Given the description of an element on the screen output the (x, y) to click on. 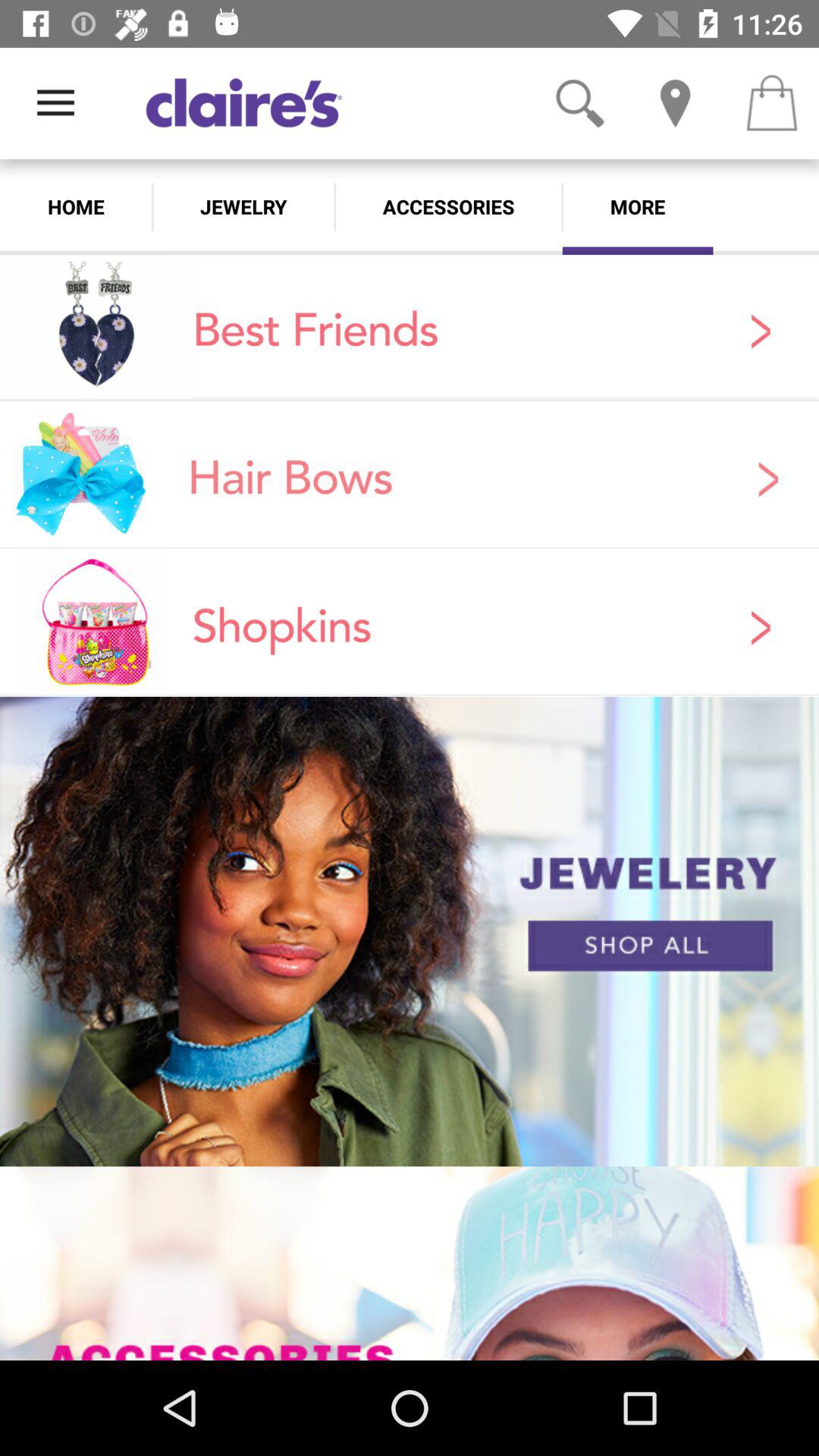
turn off home (76, 206)
